Given the description of an element on the screen output the (x, y) to click on. 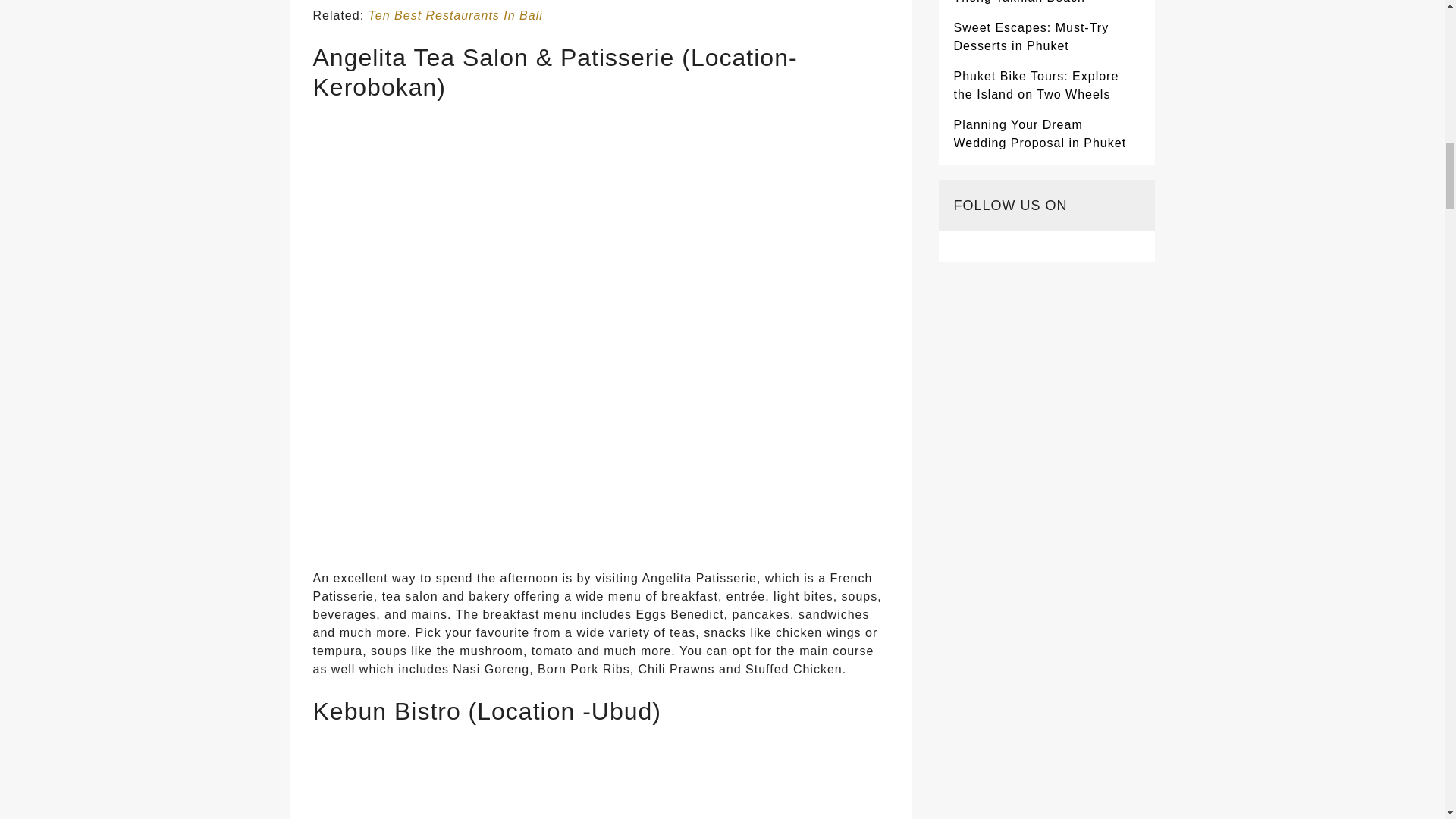
Ten Best Restaurants In Bali (455, 15)
